Given the description of an element on the screen output the (x, y) to click on. 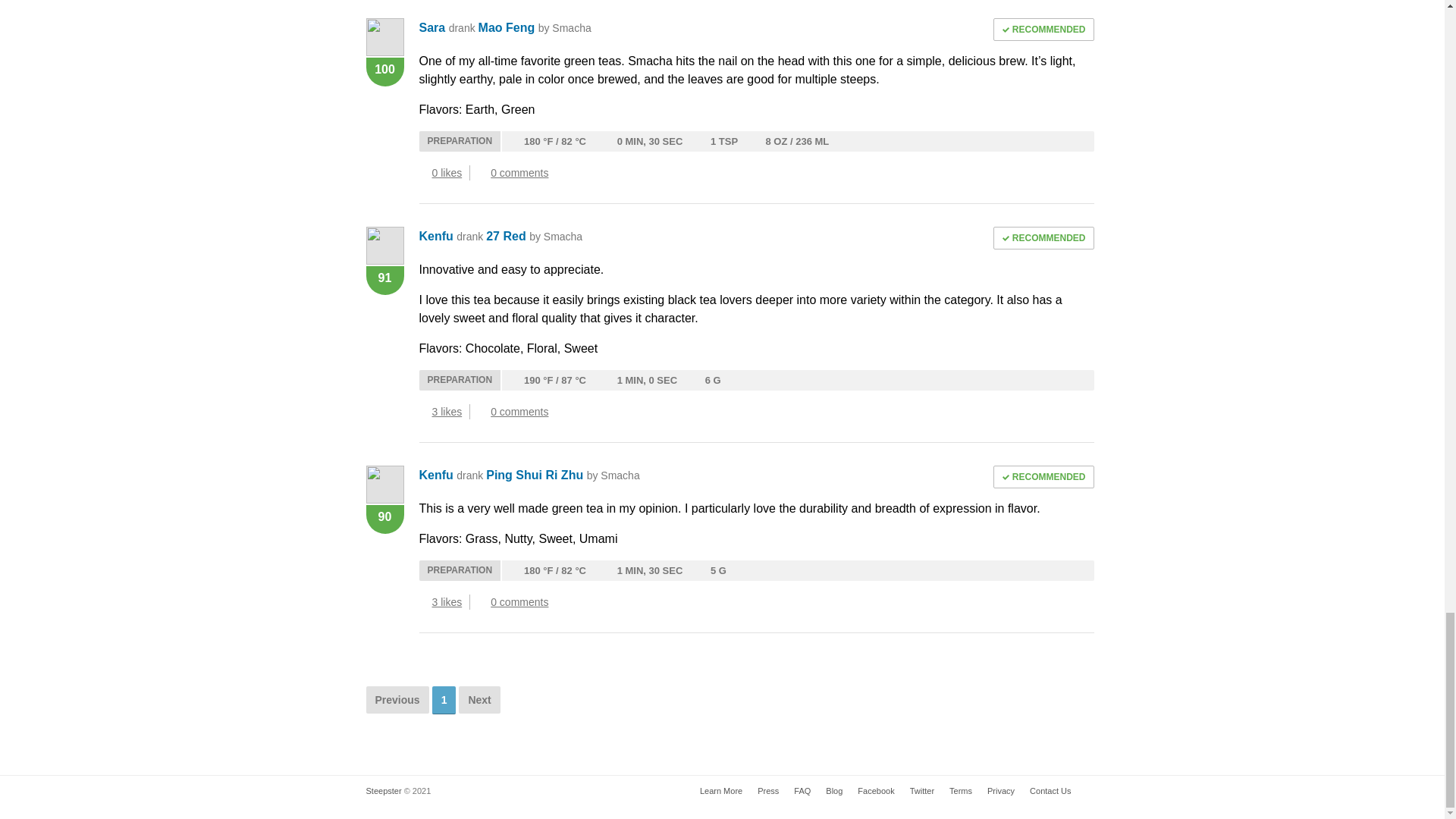
Like This (423, 602)
Like This (423, 411)
Like This (423, 172)
